Given the description of an element on the screen output the (x, y) to click on. 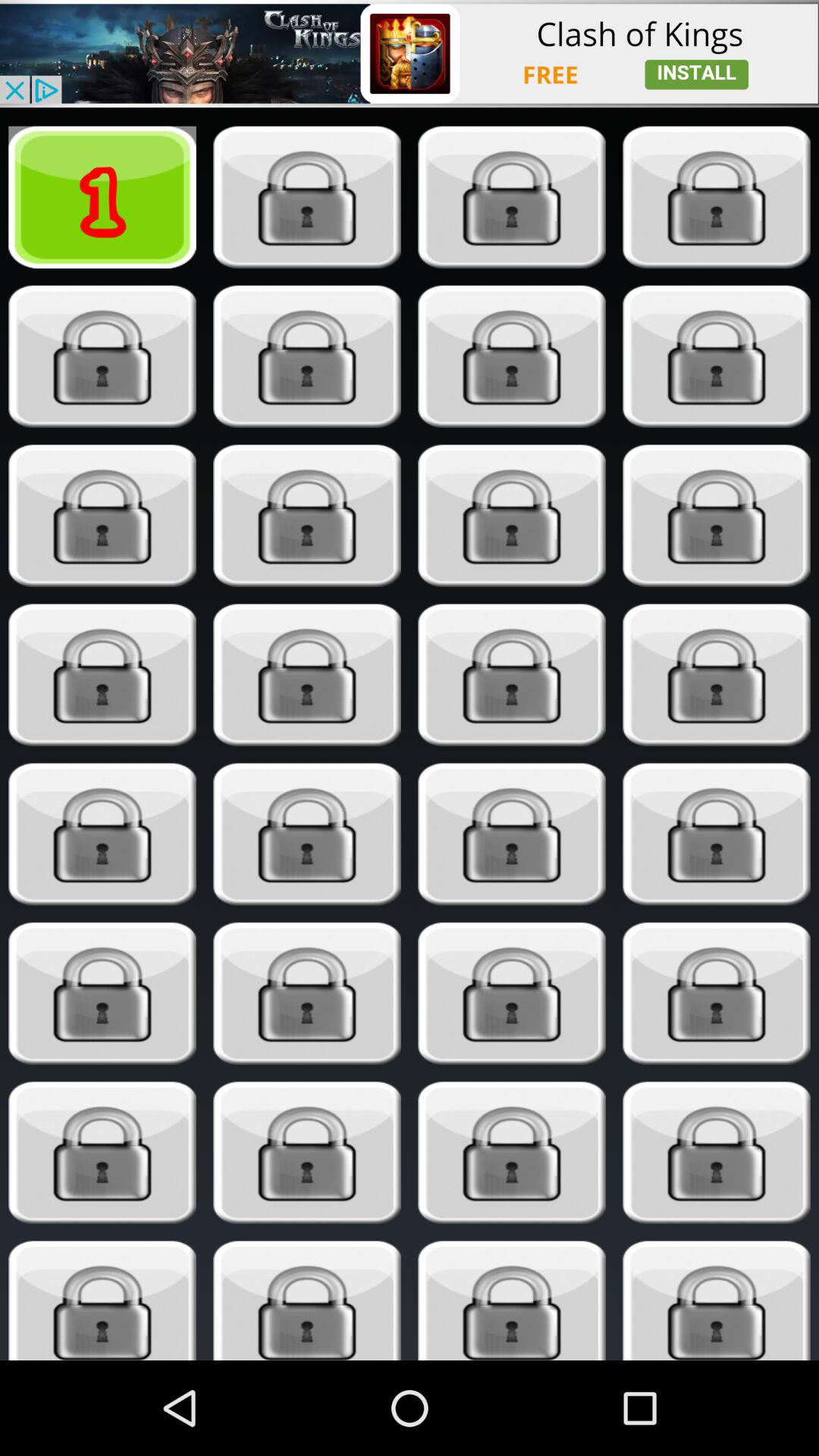
unlock item (306, 834)
